Given the description of an element on the screen output the (x, y) to click on. 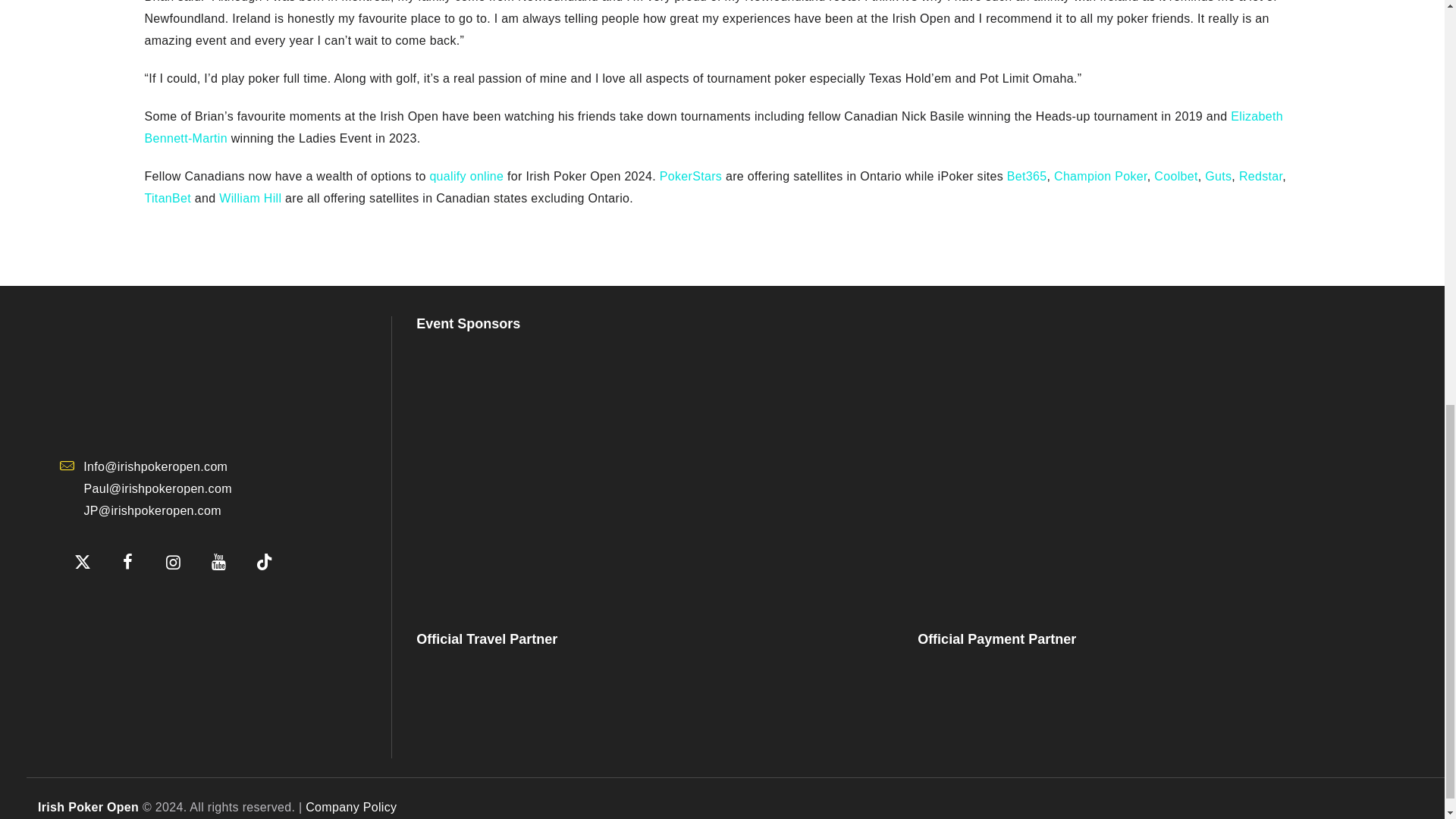
PSLogoTransparent (652, 470)
cropped-Irish-Open-Logo.jpg (172, 376)
TRAVEL WHITE (526, 702)
Screen Shot 2023-01-12 at 09.14.15 (135, 607)
